Given the description of an element on the screen output the (x, y) to click on. 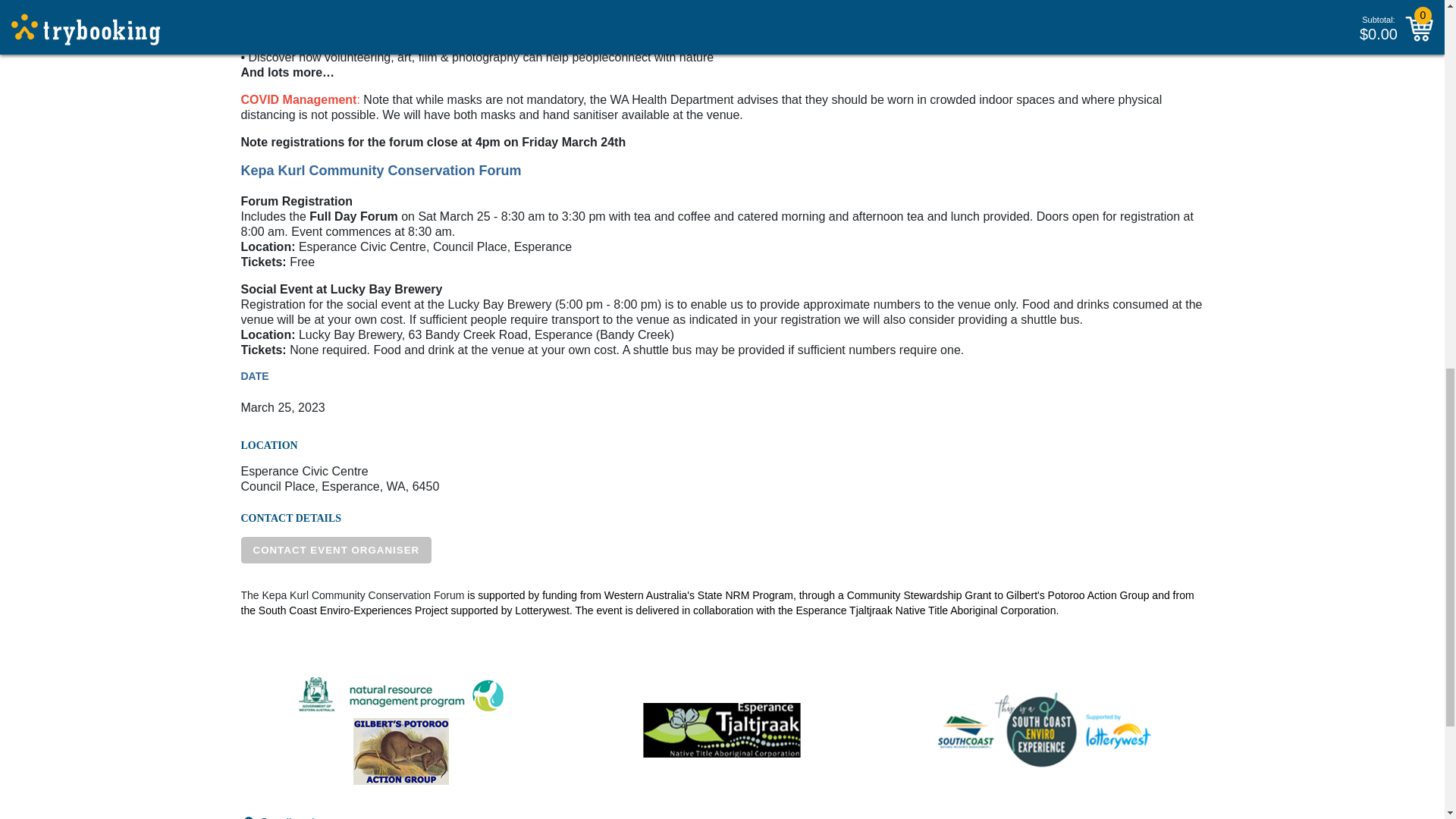
Get directions (296, 817)
CONTACT EVENT ORGANISER (336, 550)
